Given the description of an element on the screen output the (x, y) to click on. 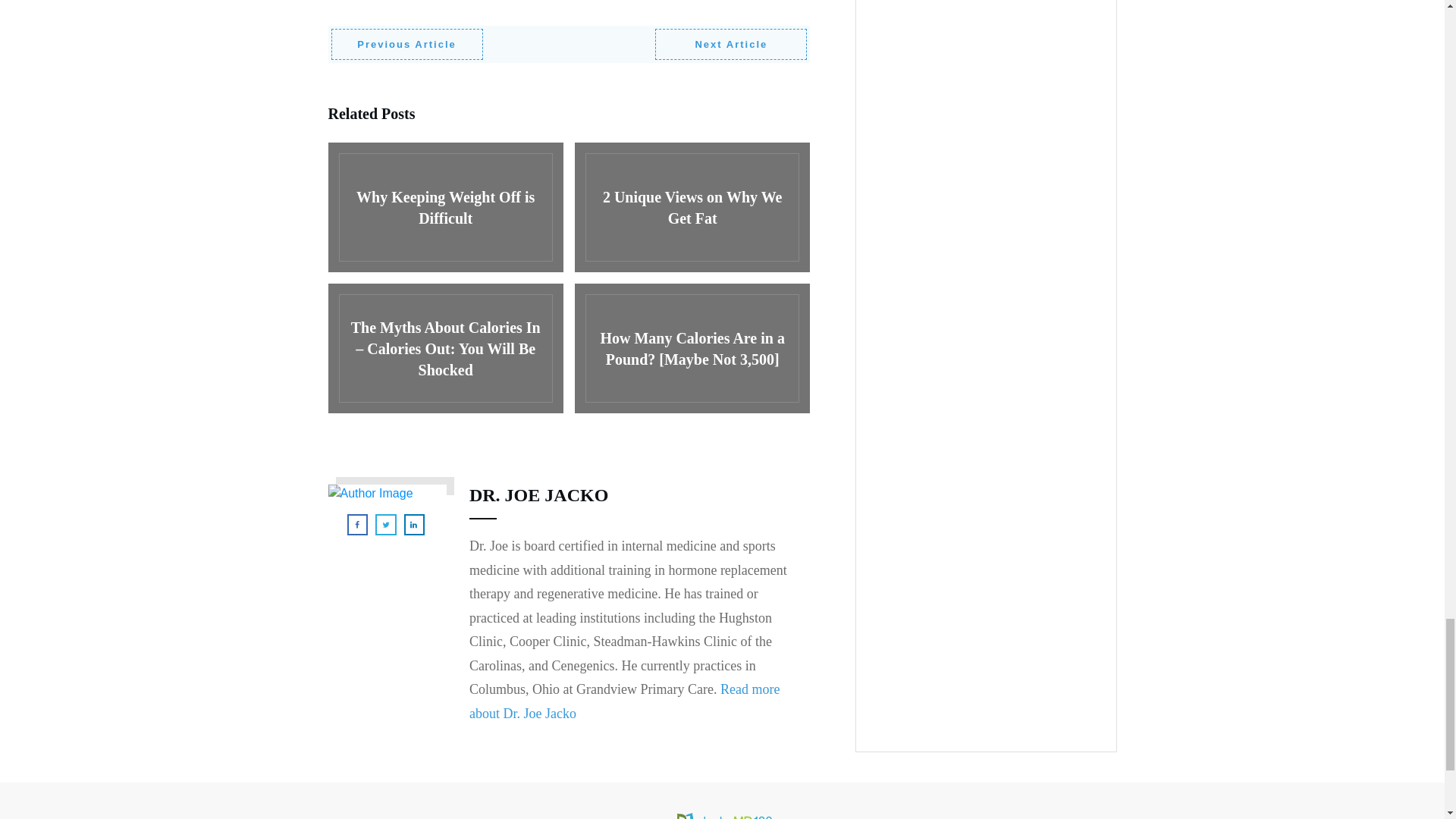
Why Keeping Weight Off is Difficult (444, 206)
Next Article (730, 44)
Previous Article (405, 44)
2 Unique Views on Why We Get Fat (692, 206)
